Given the description of an element on the screen output the (x, y) to click on. 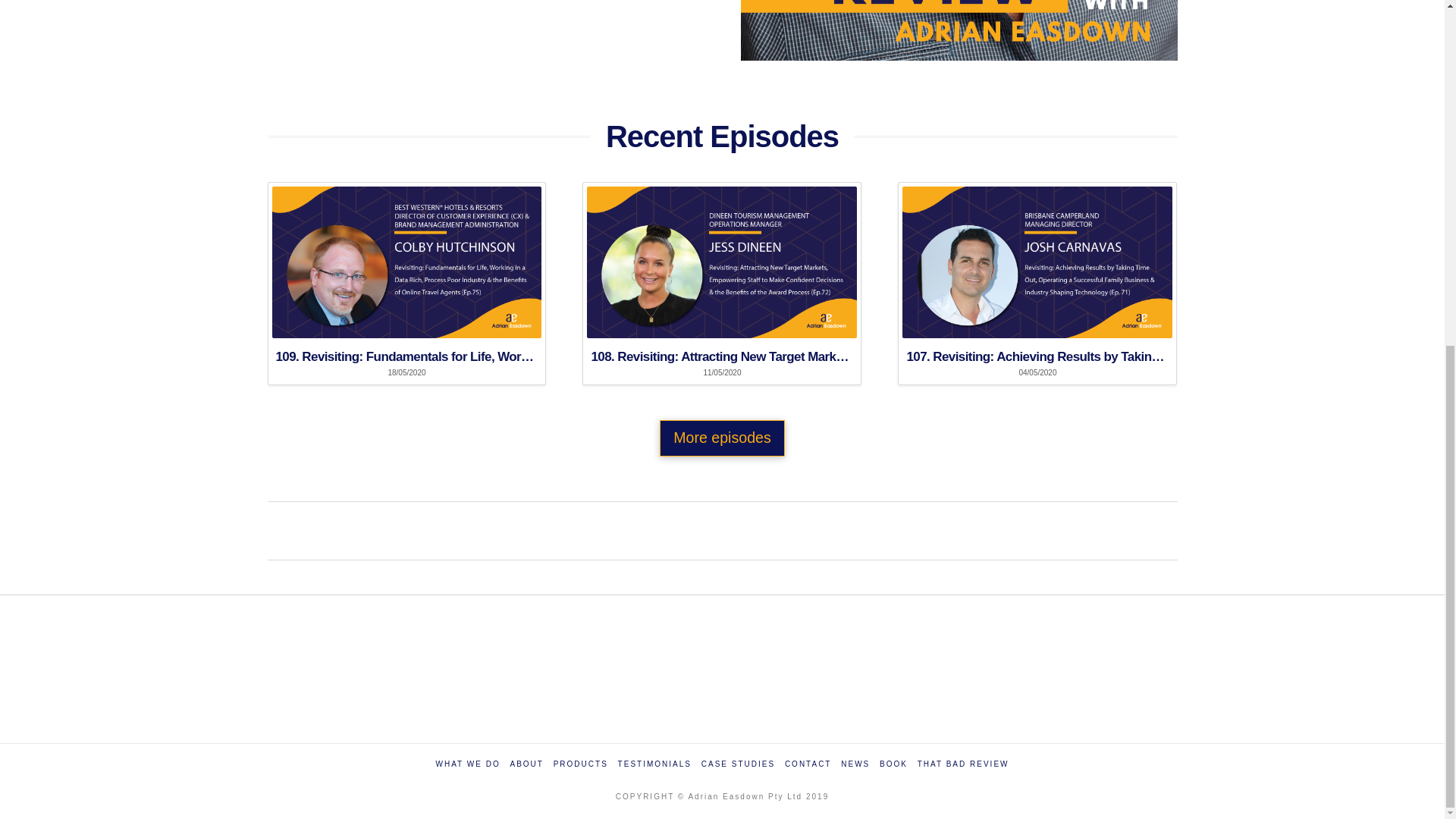
CONTACT (807, 764)
More episodes (721, 438)
WHAT WE DO (467, 764)
BOOK (893, 764)
THAT BAD REVIEW (963, 764)
CASE STUDIES (737, 764)
ABOUT (526, 764)
NEWS (855, 764)
TESTIMONIALS (654, 764)
PRODUCTS (580, 764)
